Given the description of an element on the screen output the (x, y) to click on. 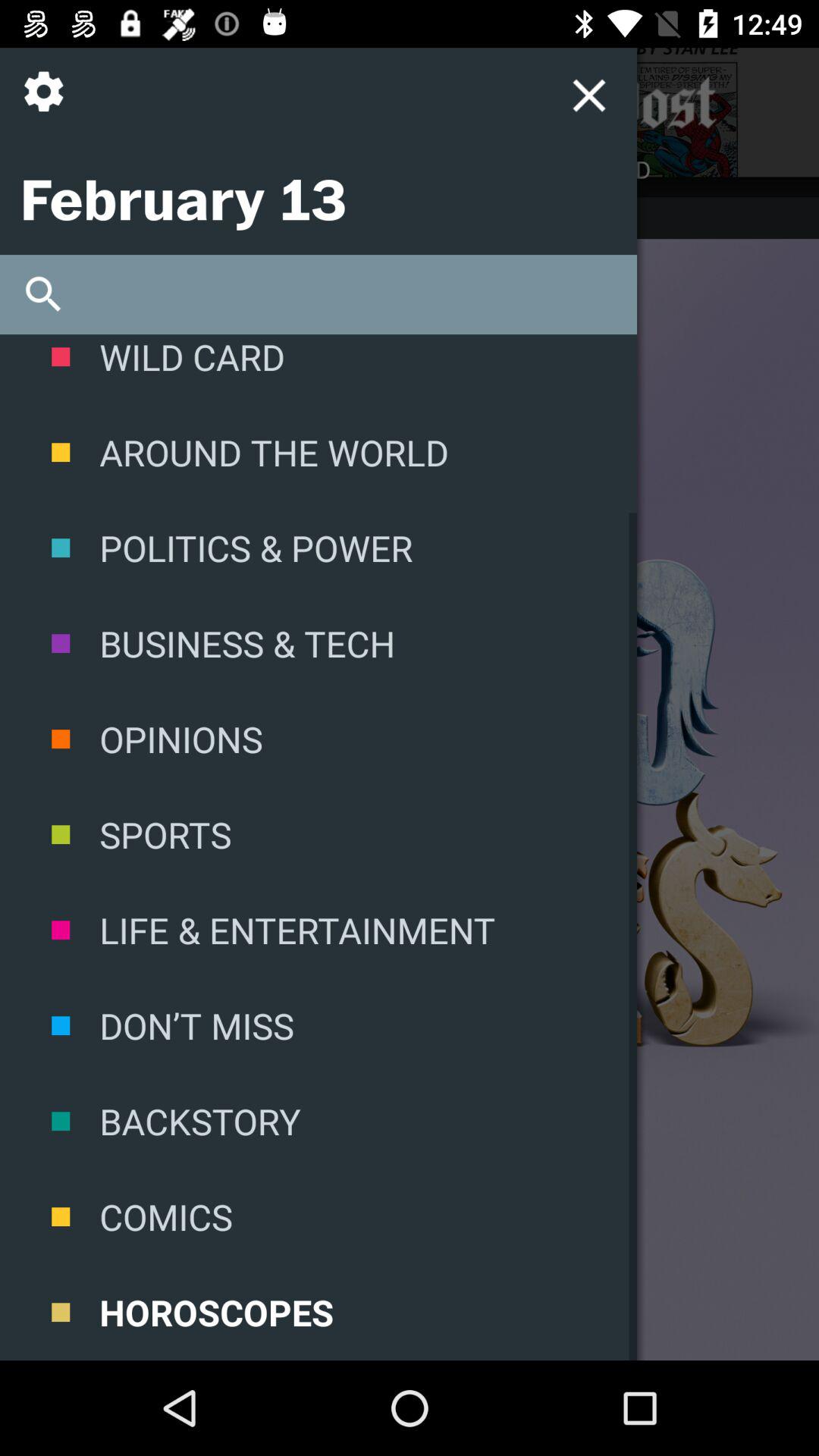
close the menu (442, 103)
